Given the description of an element on the screen output the (x, y) to click on. 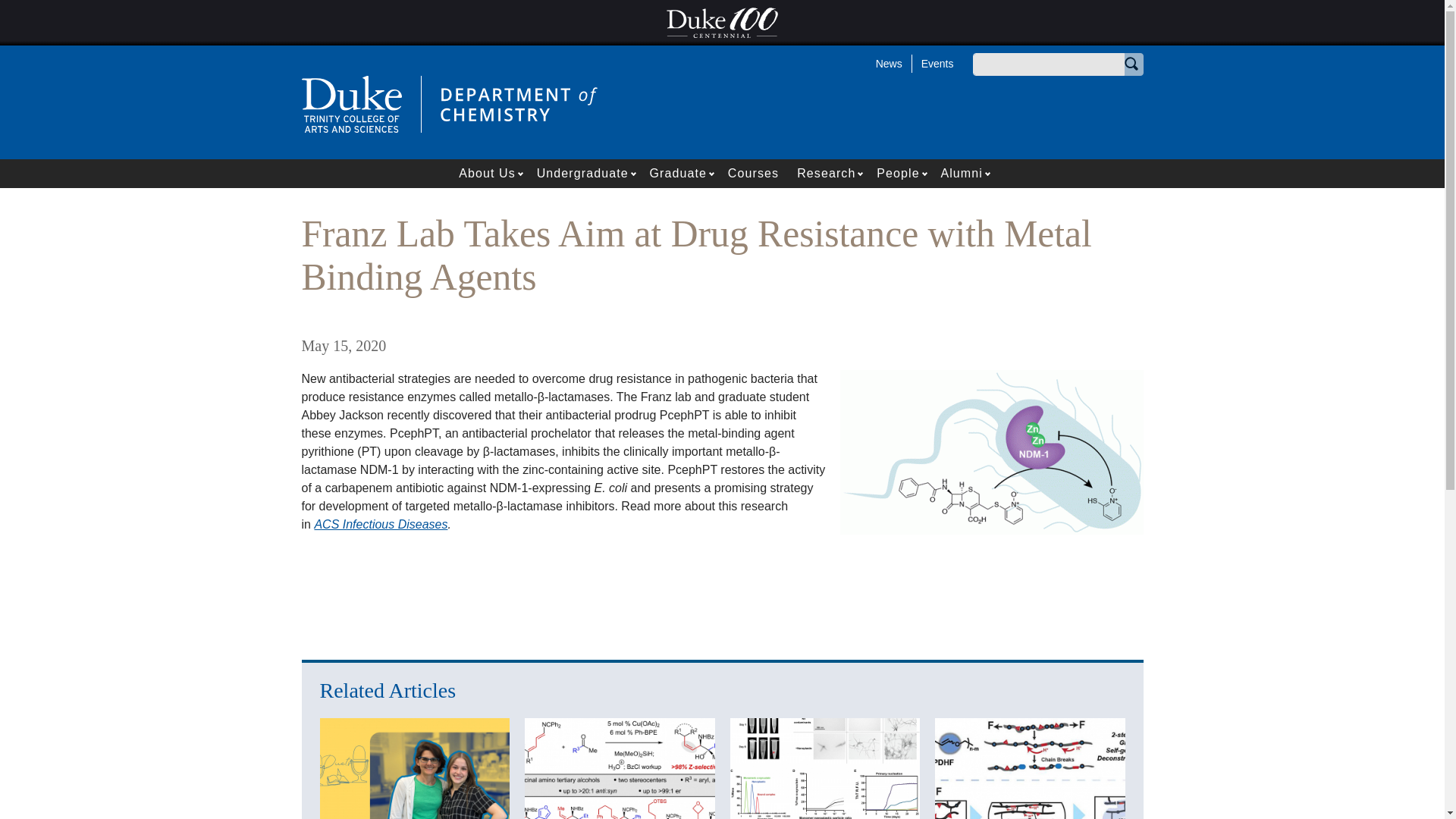
Courses (753, 173)
News (888, 63)
Research (821, 173)
Open About Us submenu (521, 173)
Open Undergraduate submenu (634, 173)
Duke University - Trinity College of Arts and Sciences (351, 103)
Graduate (673, 173)
Search (1131, 64)
Events (932, 63)
